Given the description of an element on the screen output the (x, y) to click on. 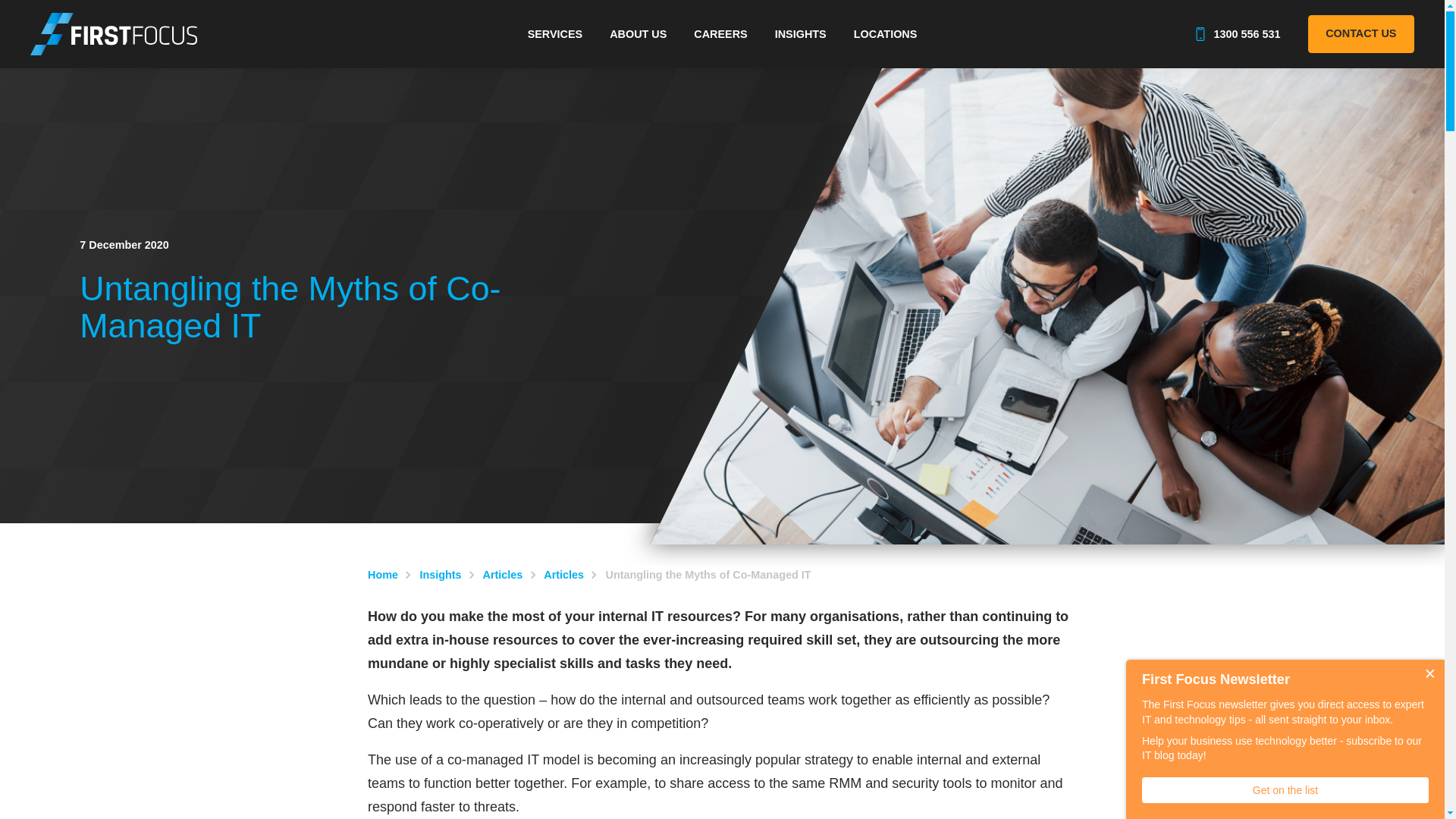
SERVICES (554, 33)
Go to Articles. (502, 574)
Go to the Articles Article Category archives. (563, 574)
ABOUT US (637, 33)
Go to Insights. (440, 574)
Go to First Focus. (382, 574)
